Given the description of an element on the screen output the (x, y) to click on. 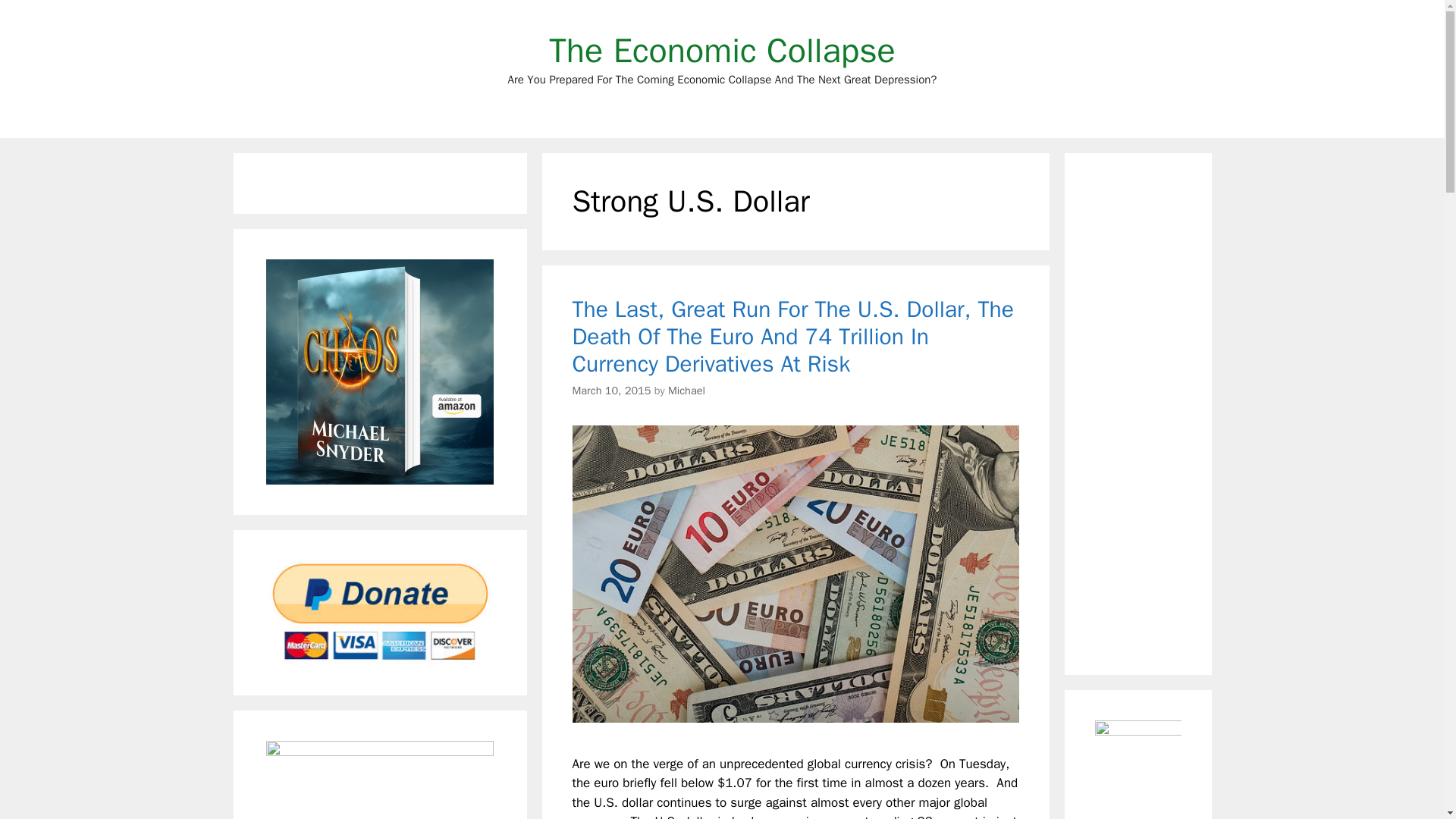
Michael (686, 390)
View all posts by Michael (686, 390)
5:45 pm (611, 390)
The Economic Collapse (721, 50)
March 10, 2015 (611, 390)
